Given the description of an element on the screen output the (x, y) to click on. 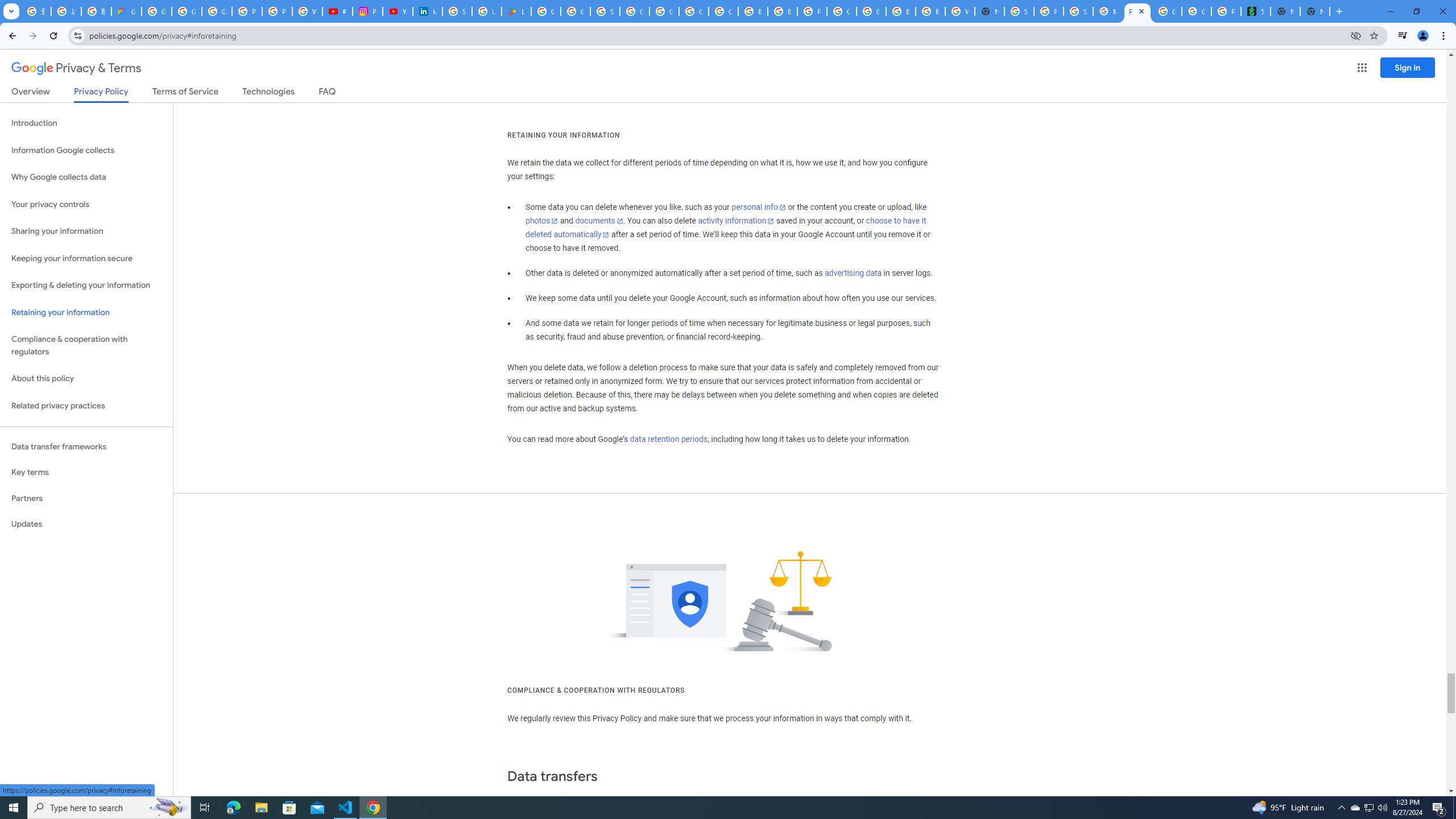
documents (599, 221)
Terms of Service (184, 93)
Keeping your information secure (86, 258)
New Tab (989, 11)
FAQ (327, 93)
Address and search bar (715, 35)
Privacy Help Center - Policies Help (277, 11)
